Given the description of an element on the screen output the (x, y) to click on. 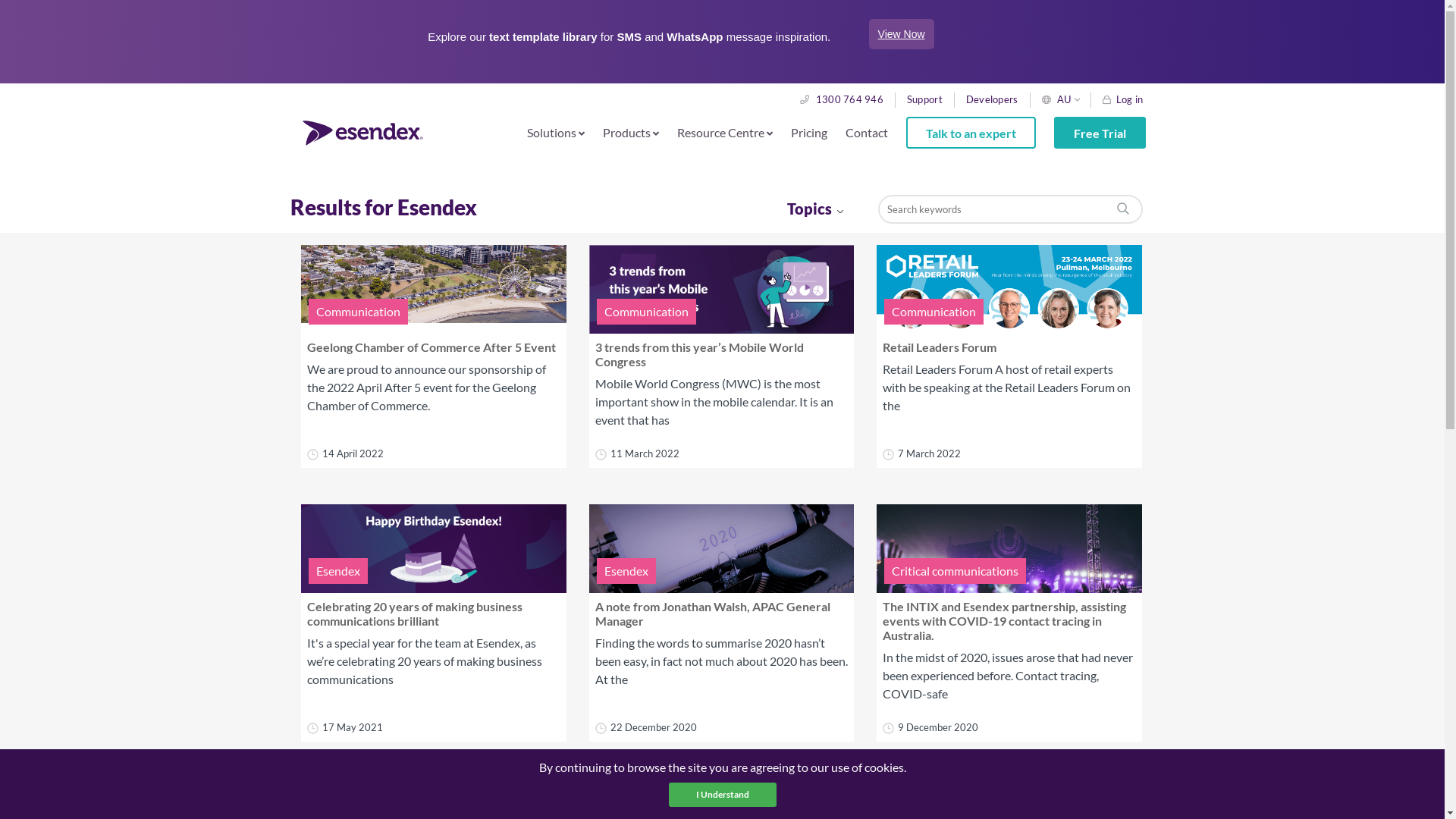
Geelong Chamber of Commerce After 5 Event Element type: text (431, 346)
Critical communications Element type: text (955, 570)
Log in Element type: text (1122, 99)
Retail Leaders Forum Element type: hover (1009, 288)
Pricing Element type: text (808, 131)
Talk to an expert Element type: text (970, 132)
1300 764 946 Element type: text (841, 99)
Developers Element type: text (992, 99)
Geelong Chamber of Commerce After 5 Event Element type: hover (433, 288)
Esendex Element type: text (625, 570)
AU Element type: text (1063, 99)
Support Element type: text (924, 99)
Communication Element type: text (933, 311)
I Understand Element type: text (722, 794)
Contact Element type: text (865, 131)
Esendex Element type: text (337, 570)
Free Trial Element type: text (1099, 132)
Communication Element type: text (357, 311)
A note from Jonathan Walsh, APAC General Manager Element type: text (711, 613)
Communication Element type: text (645, 311)
Retail Leaders Forum Element type: text (939, 346)
A note from Jonathan Walsh, APAC General Manager Element type: hover (720, 548)
